Given the description of an element on the screen output the (x, y) to click on. 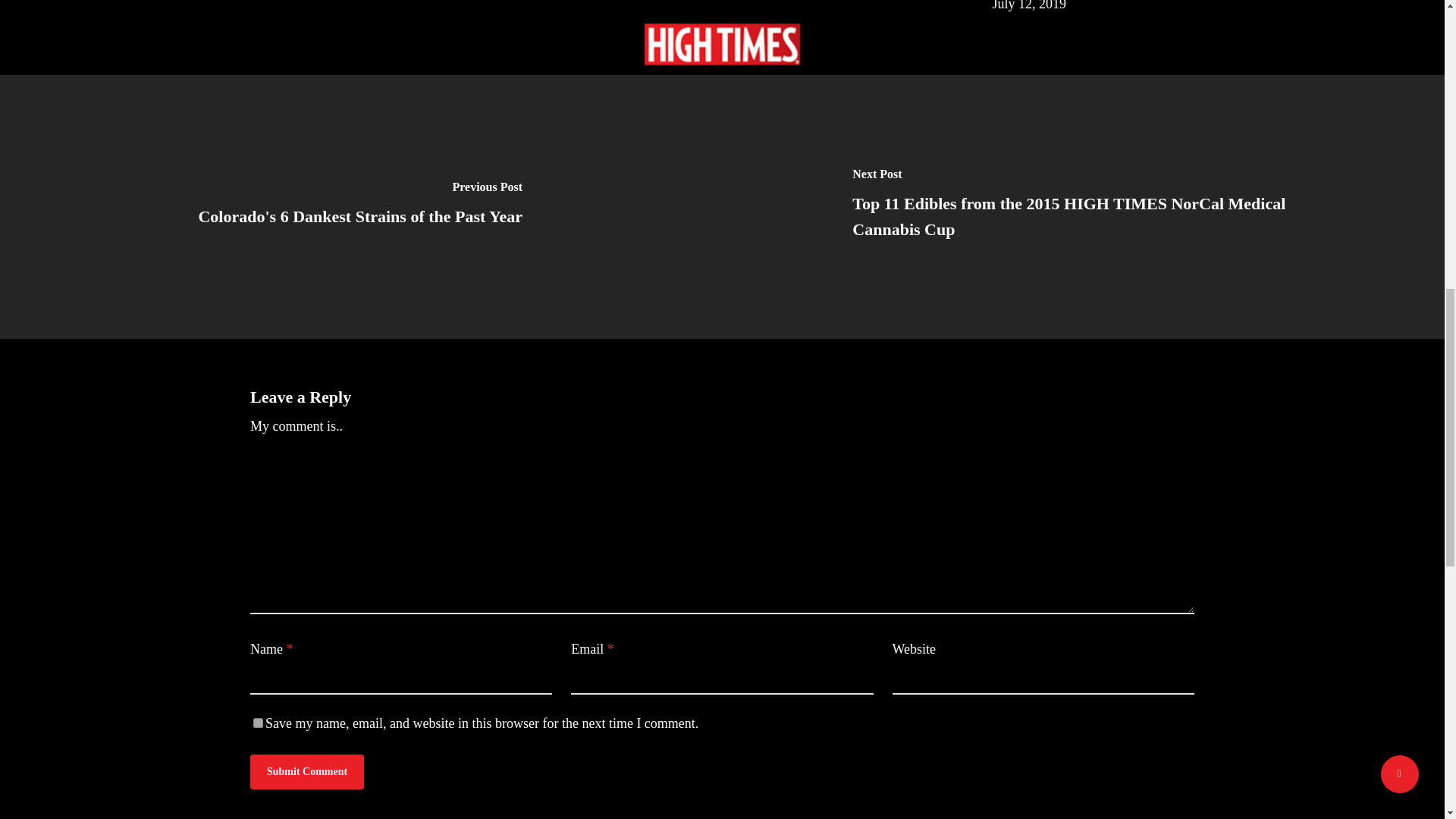
yes (258, 723)
Submit Comment (307, 771)
Submit Comment (307, 771)
